Given the description of an element on the screen output the (x, y) to click on. 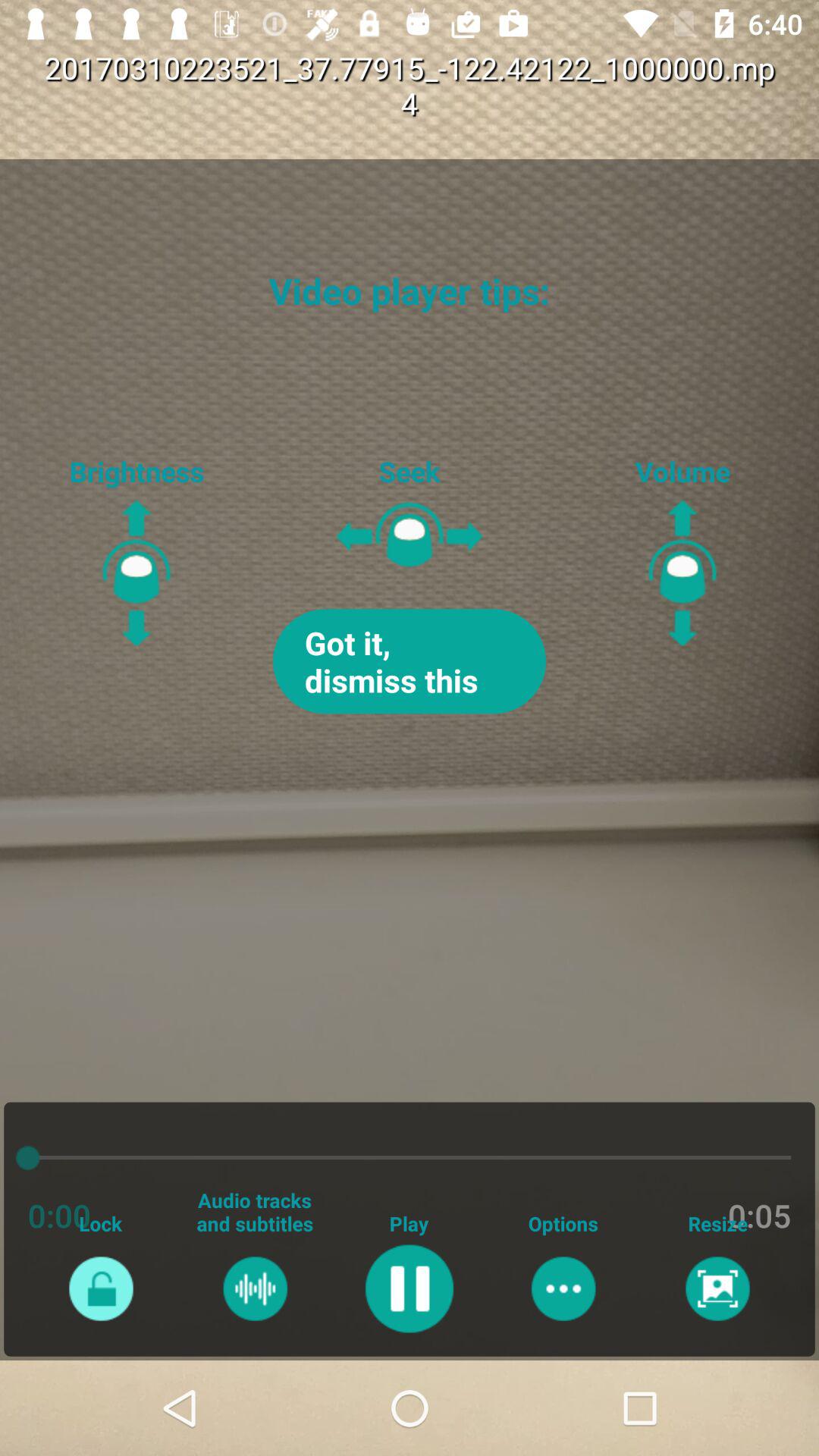
to lock (100, 1288)
